Given the description of an element on the screen output the (x, y) to click on. 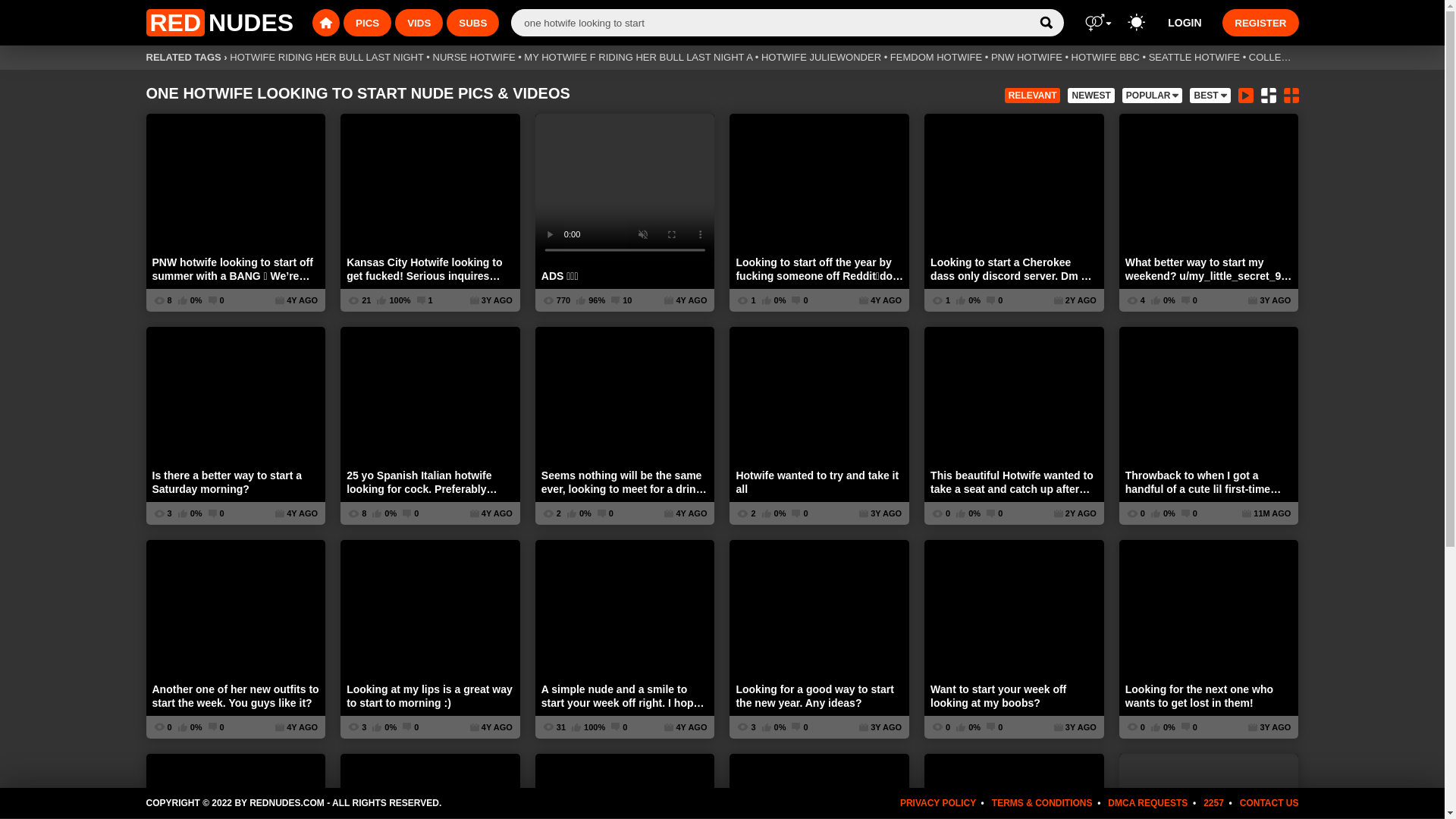
PNW HOTWIFE (1026, 57)
SUBS (470, 22)
VIDS (418, 22)
REGISTER (1260, 22)
LOGIN (1184, 22)
PICS (367, 22)
REDNUDES (219, 22)
SUBS (472, 22)
COLLEGE BOY AND HOTWIFE (1319, 57)
FEMDOM HOTWIFE (935, 57)
HOTWIFE JULIEWONDER (820, 57)
PICS (365, 22)
NURSE HOTWIFE (473, 57)
HOTWIFE RIDING HER BULL LAST NIGHT (326, 57)
MY HOTWIFE F RIDING HER BULL LAST NIGHT A (638, 57)
